Given the description of an element on the screen output the (x, y) to click on. 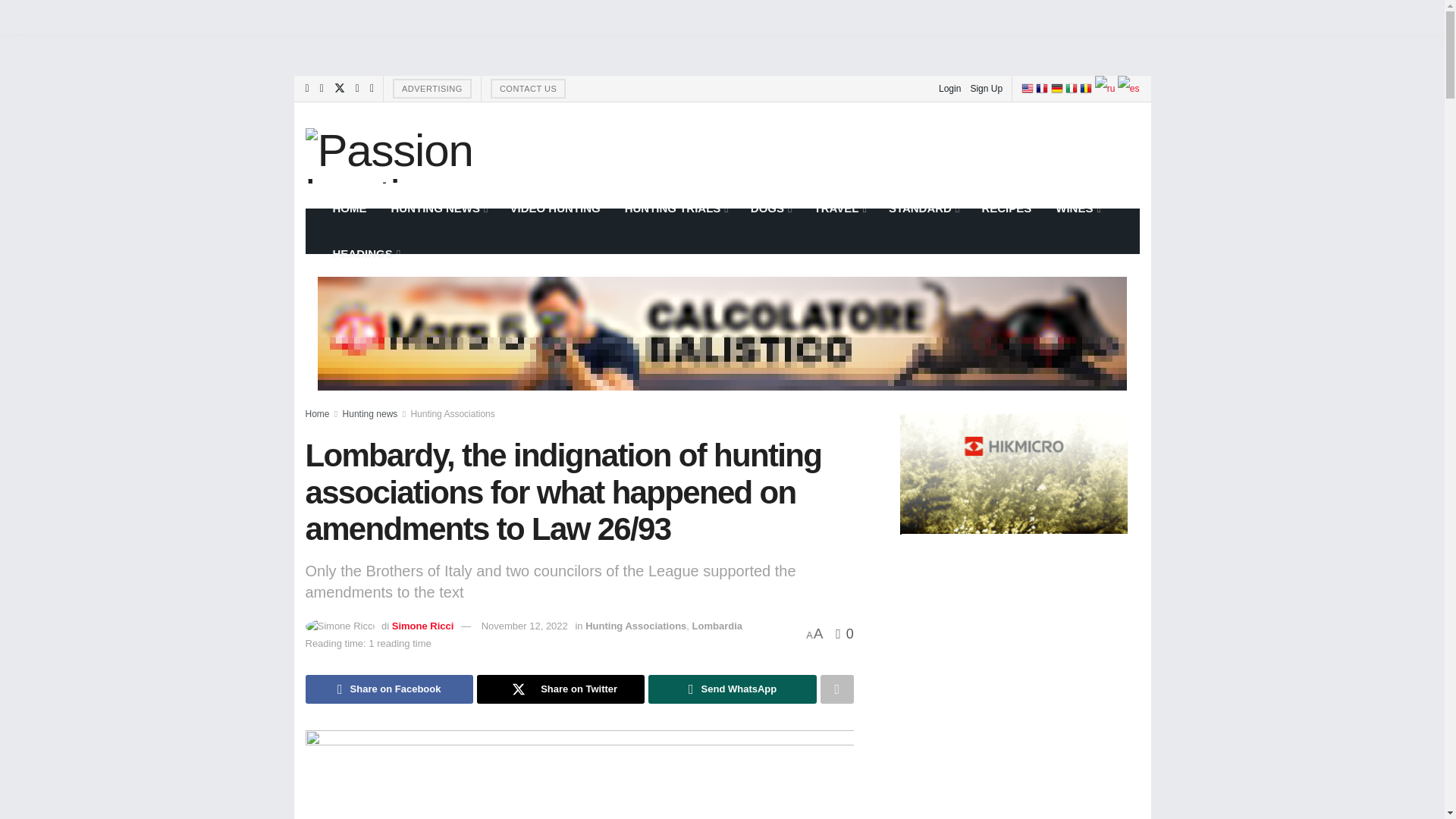
CONTACT US (528, 88)
DOGS (770, 207)
HOME (349, 207)
HUNTING NEWS (437, 207)
HUNTING TRIALS (675, 207)
ADVERTISING (432, 88)
VIDEO HUNTING (554, 207)
Hunting video. Videos and films of hunting and hunting (554, 207)
